Given the description of an element on the screen output the (x, y) to click on. 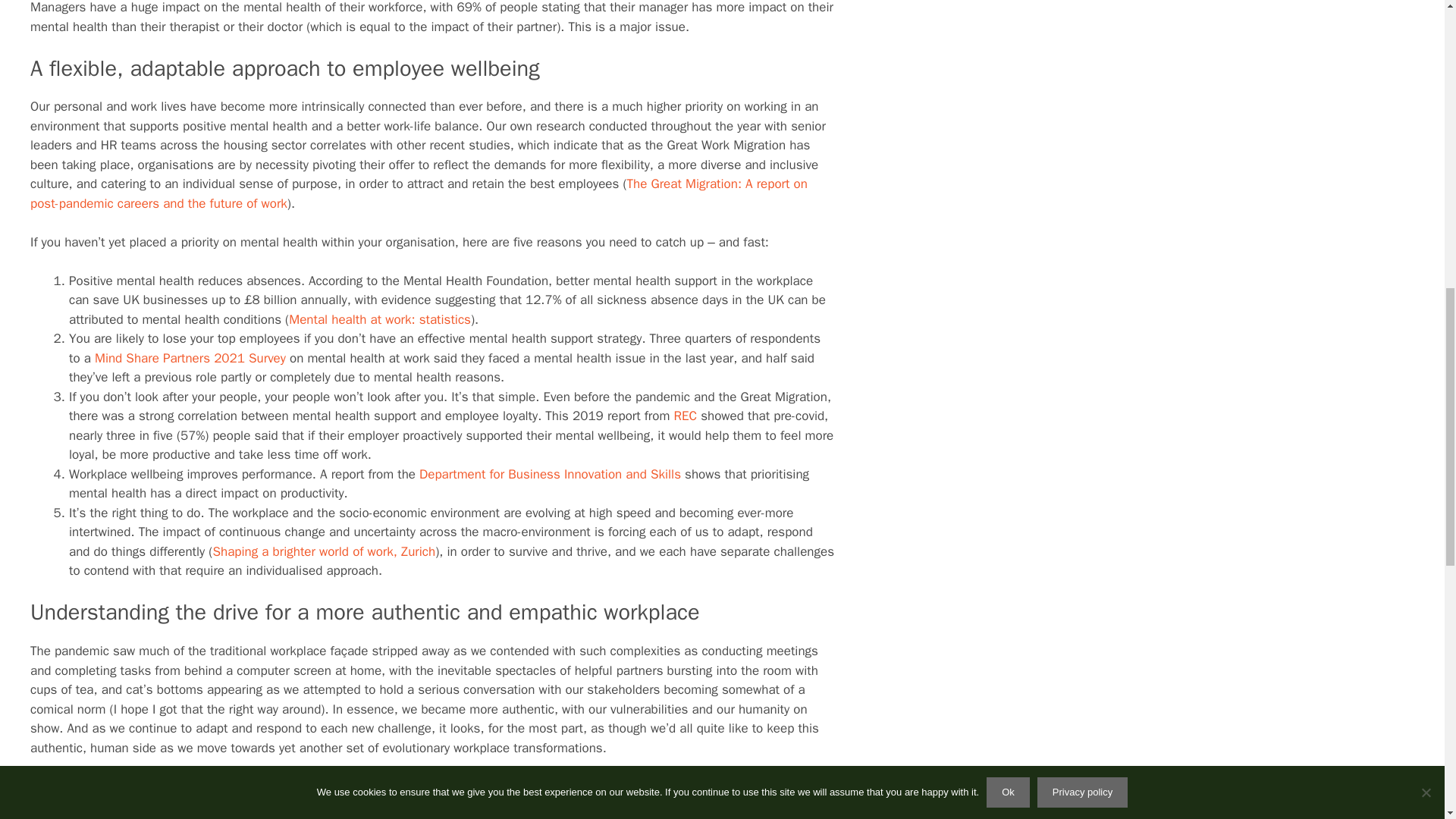
Mind Share Partners 2021 Survey (189, 358)
REC (684, 415)
Shaping a brighter world of work, Zurich (323, 551)
Department for Business Innovation and Skills (550, 474)
Scroll back to top (1406, 720)
Mental health at work: statistics (379, 319)
